Given the description of an element on the screen output the (x, y) to click on. 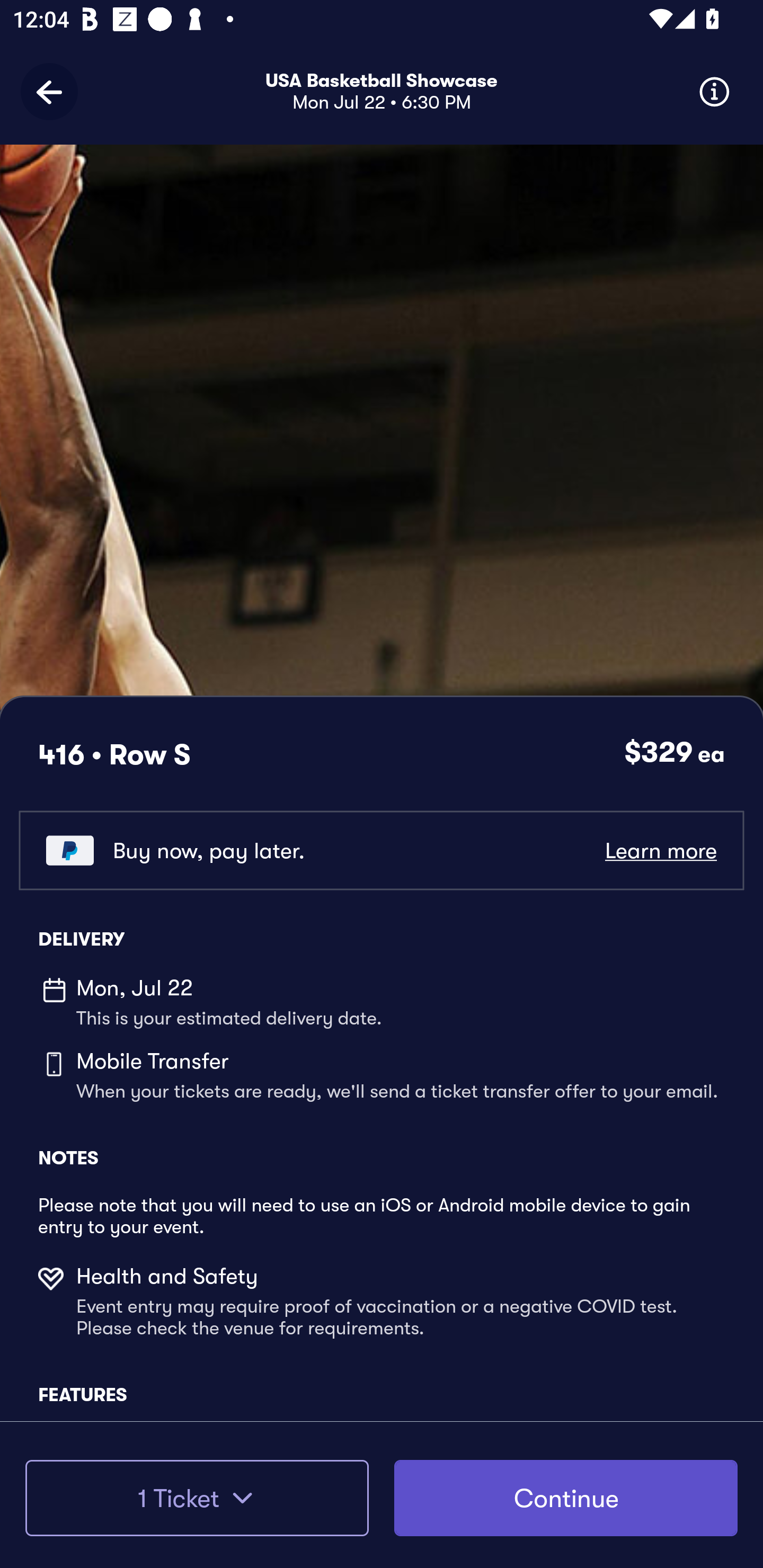
Learn more (660, 850)
1 Ticket (196, 1497)
Continue (565, 1497)
